Given the description of an element on the screen output the (x, y) to click on. 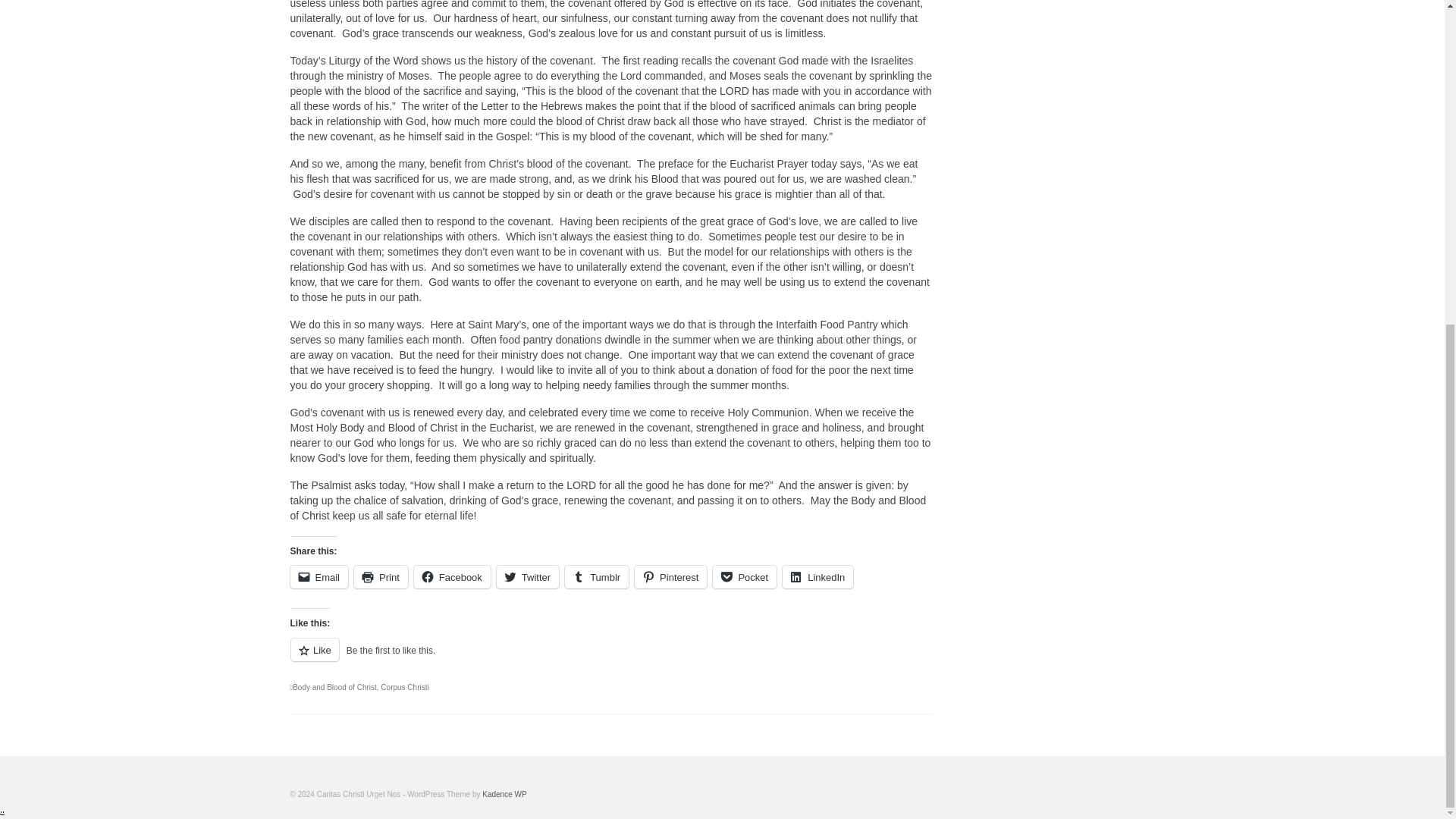
Email (318, 576)
Twitter (527, 576)
Click to share on Twitter (527, 576)
Click to email a link to a friend (318, 576)
Click to share on Tumblr (596, 576)
Body and Blood of Christ (334, 687)
Pinterest (670, 576)
Click to print (380, 576)
Kadence WP (503, 794)
Facebook (451, 576)
